Given the description of an element on the screen output the (x, y) to click on. 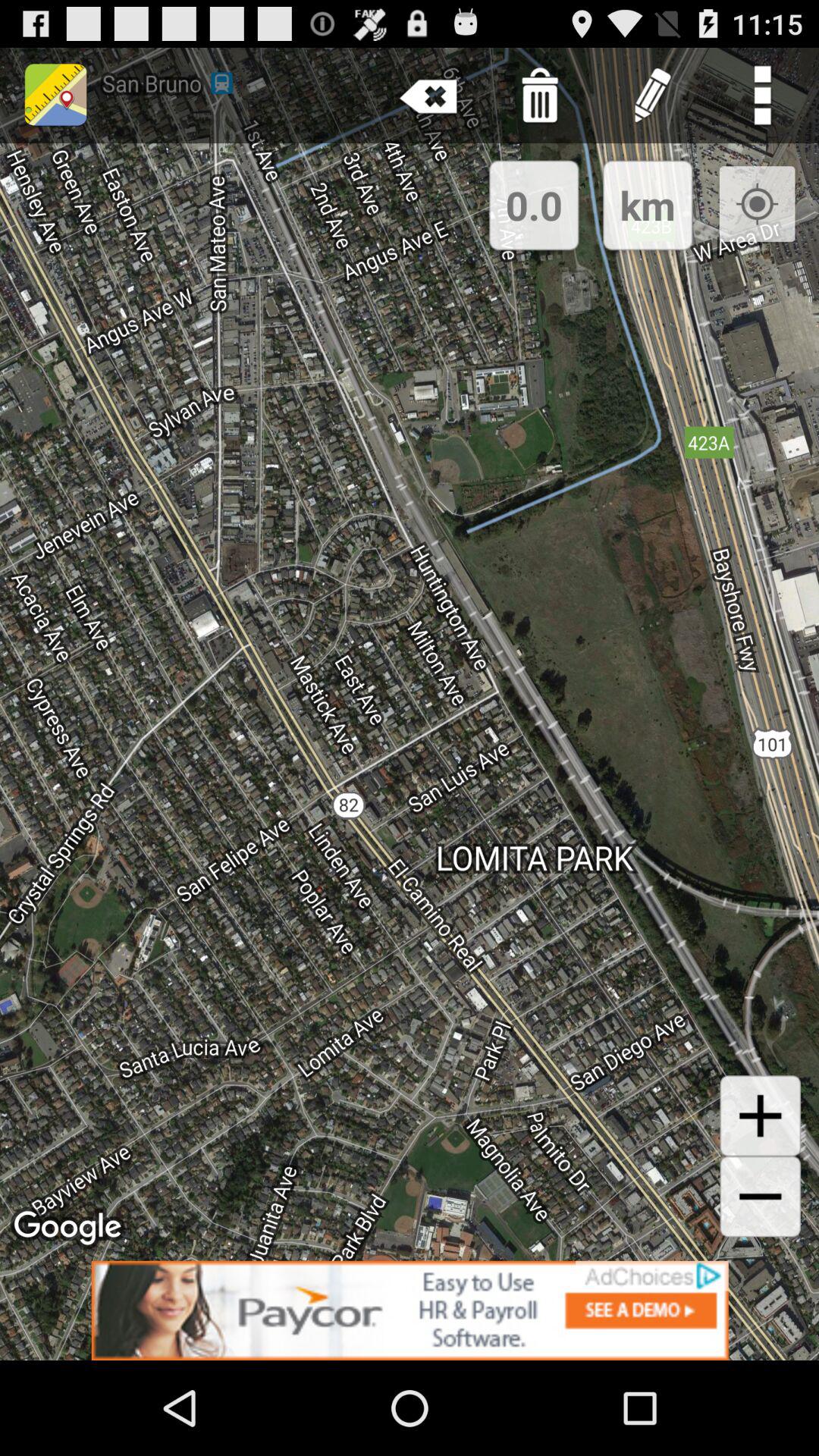
zoom in (760, 1115)
